Given the description of an element on the screen output the (x, y) to click on. 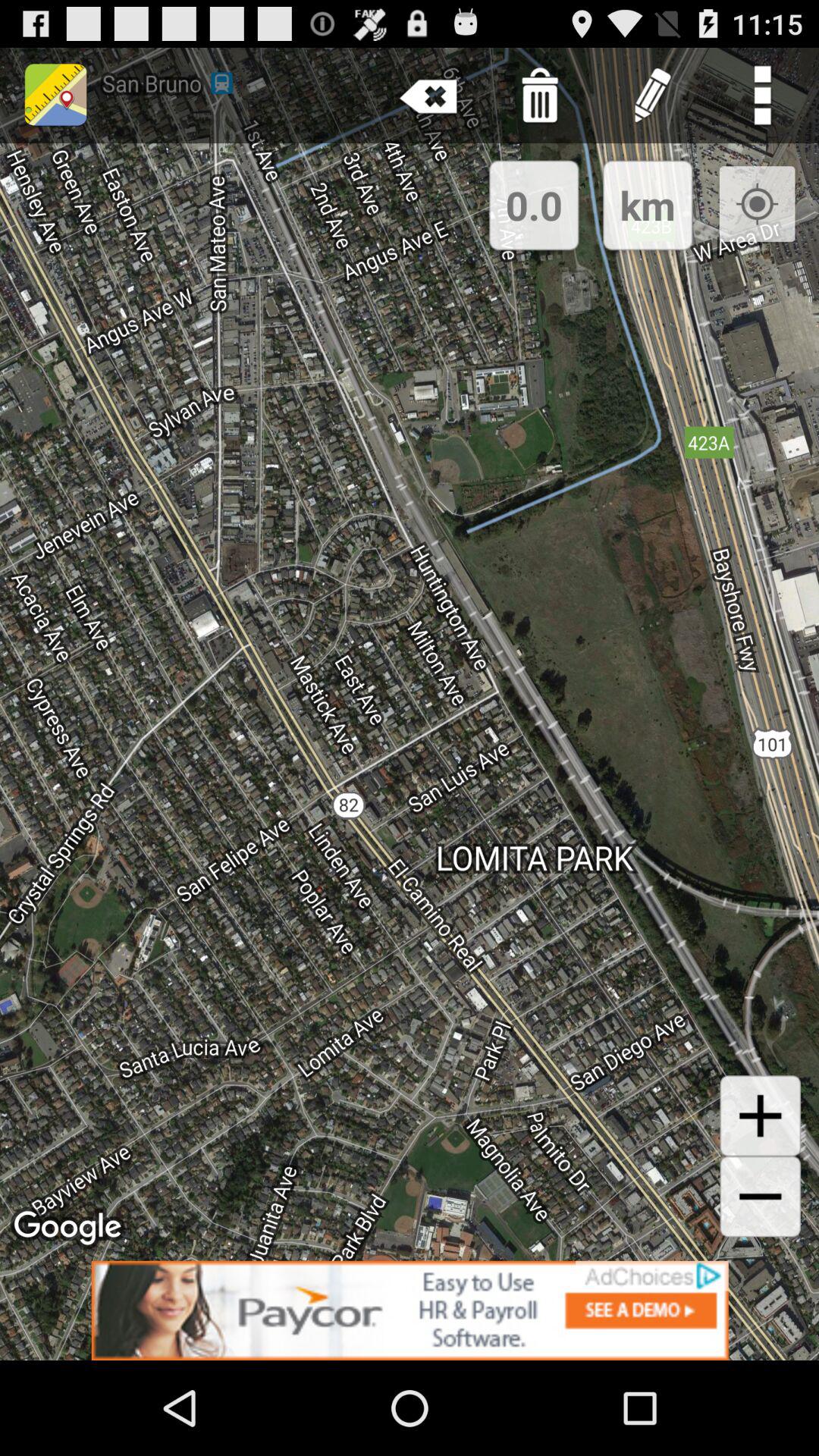
zoom in (760, 1115)
